Given the description of an element on the screen output the (x, y) to click on. 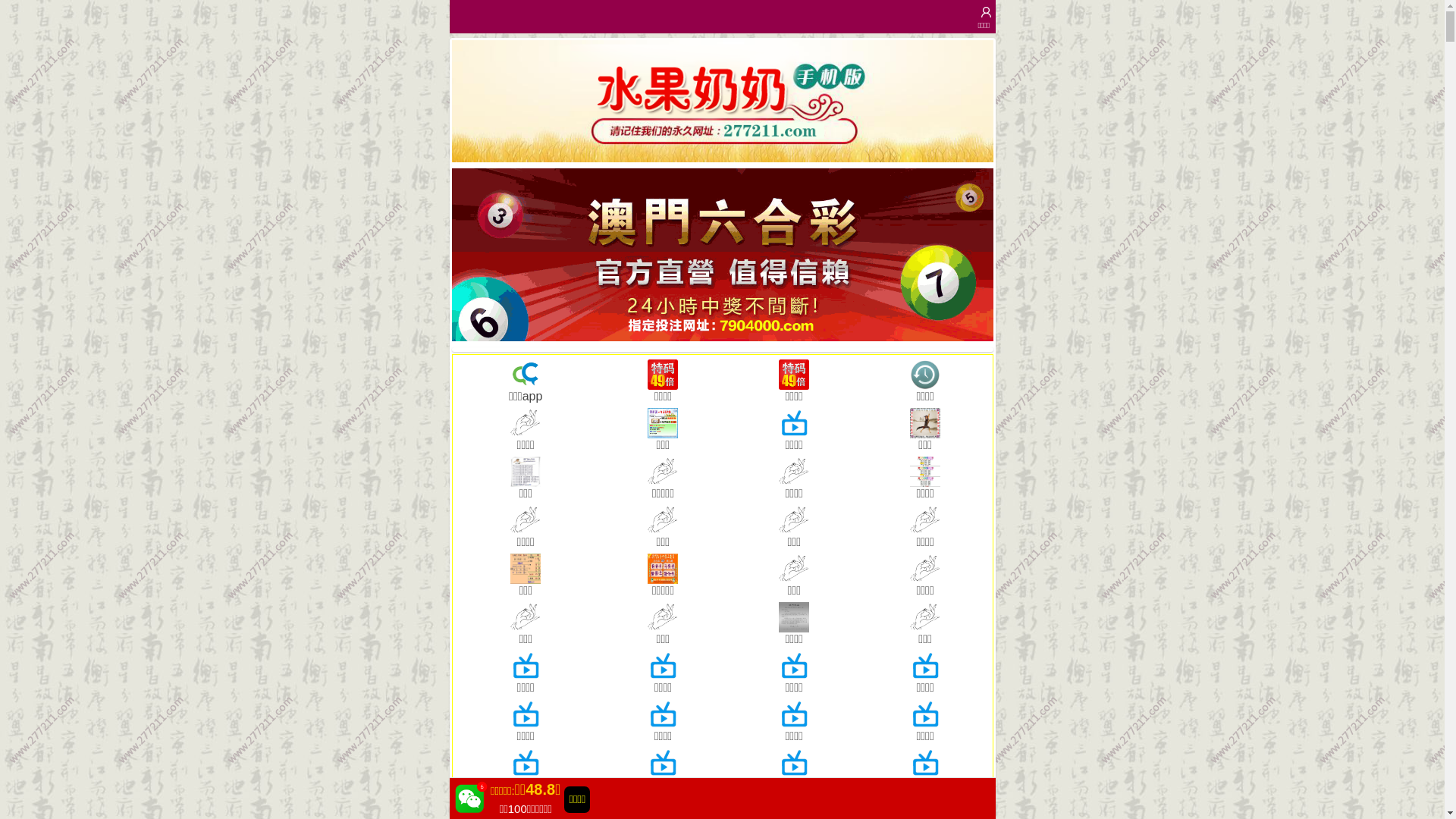
0 Element type: hover (722, 254)
0 Element type: hover (722, 101)
